Given the description of an element on the screen output the (x, y) to click on. 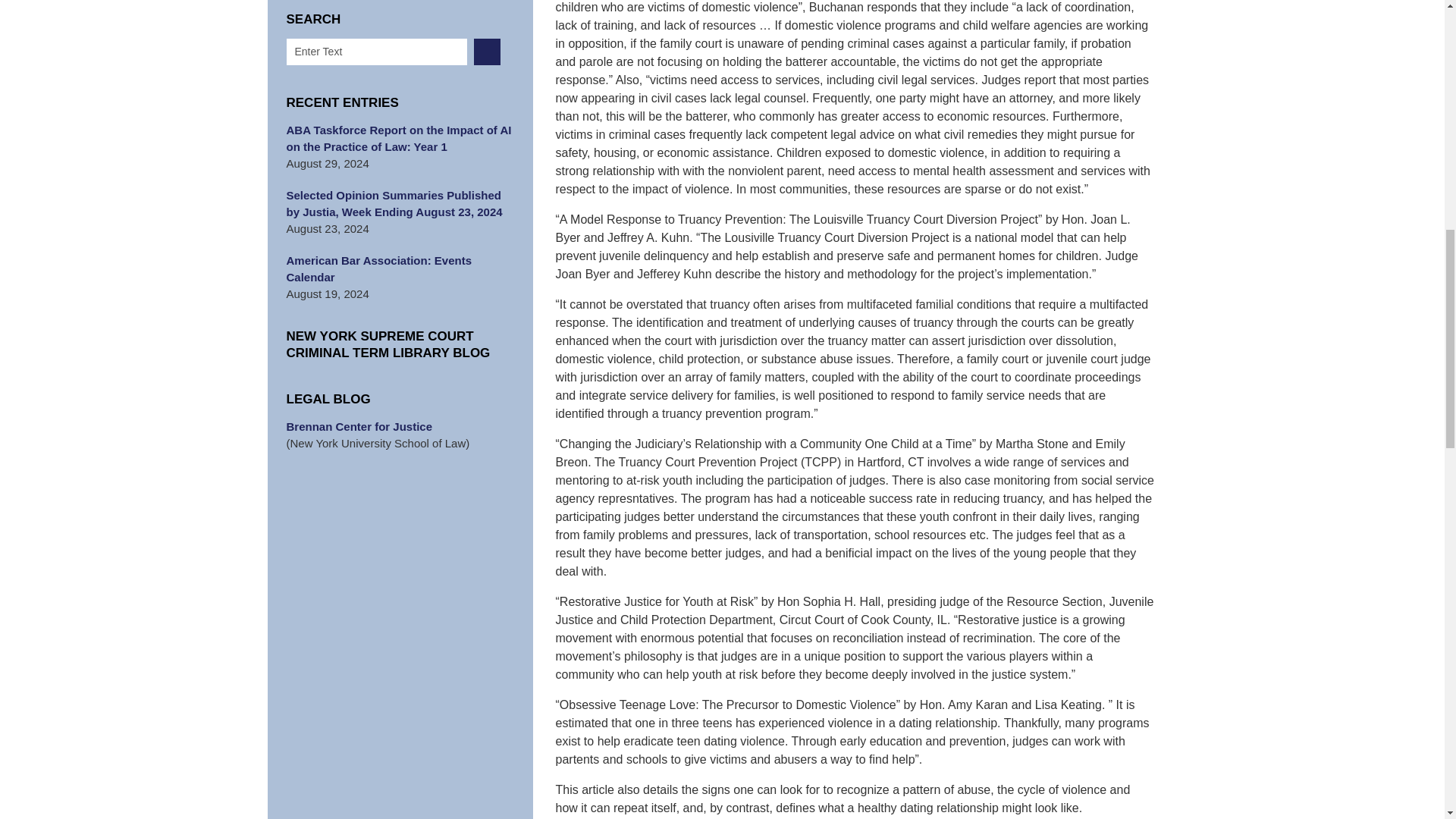
American Bar Association: Events Calendar (399, 268)
NEW YORK SUPREME COURT CRIMINAL TERM LIBRARY BLOG (399, 344)
SEARCH (487, 51)
